Given the description of an element on the screen output the (x, y) to click on. 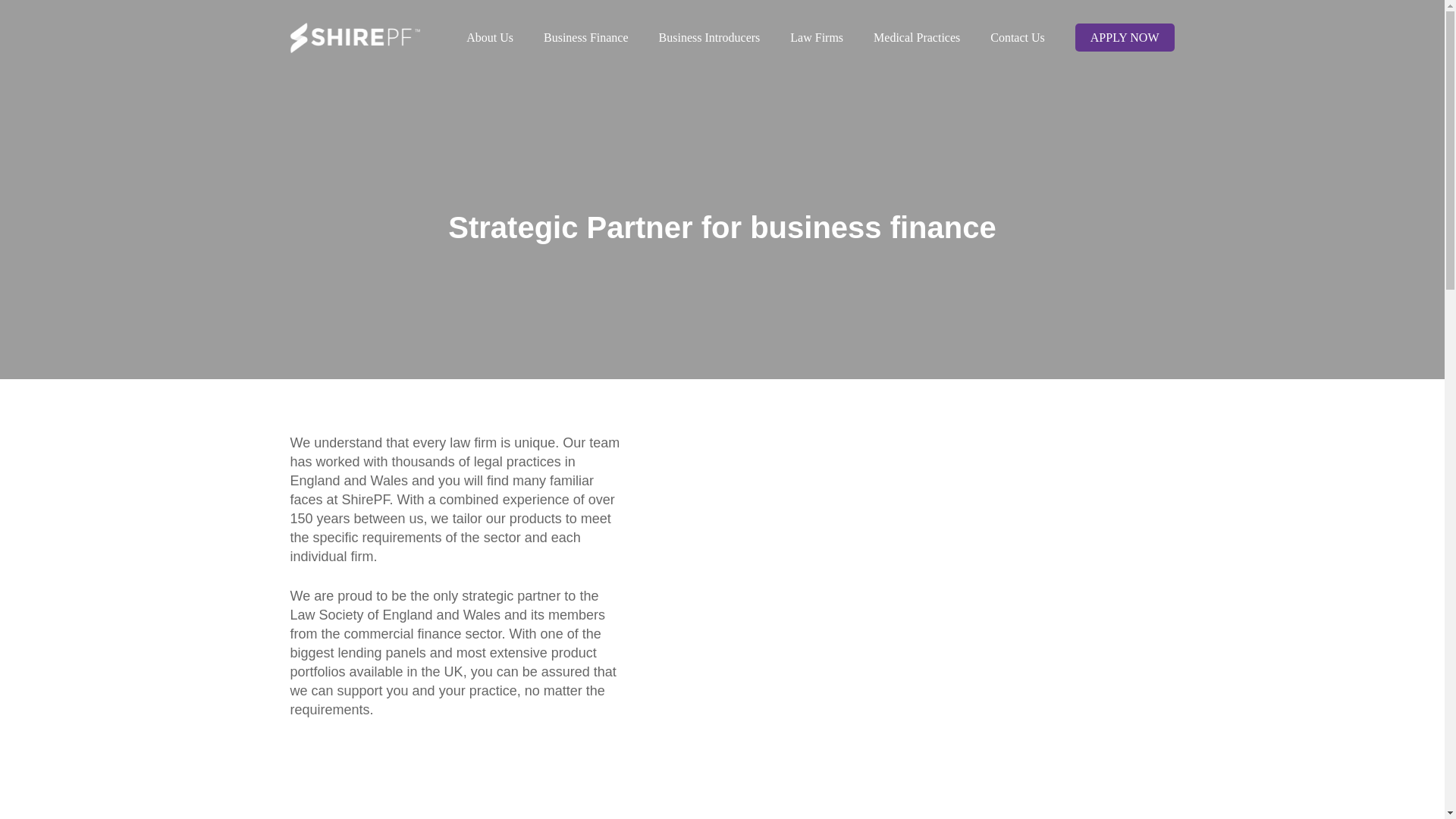
Contact Us (1017, 37)
Medical Practices (917, 37)
APPLY NOW (1124, 37)
Business Introducers (709, 37)
Law Firms (816, 37)
About Us (489, 37)
Business Finance (585, 37)
